Given the description of an element on the screen output the (x, y) to click on. 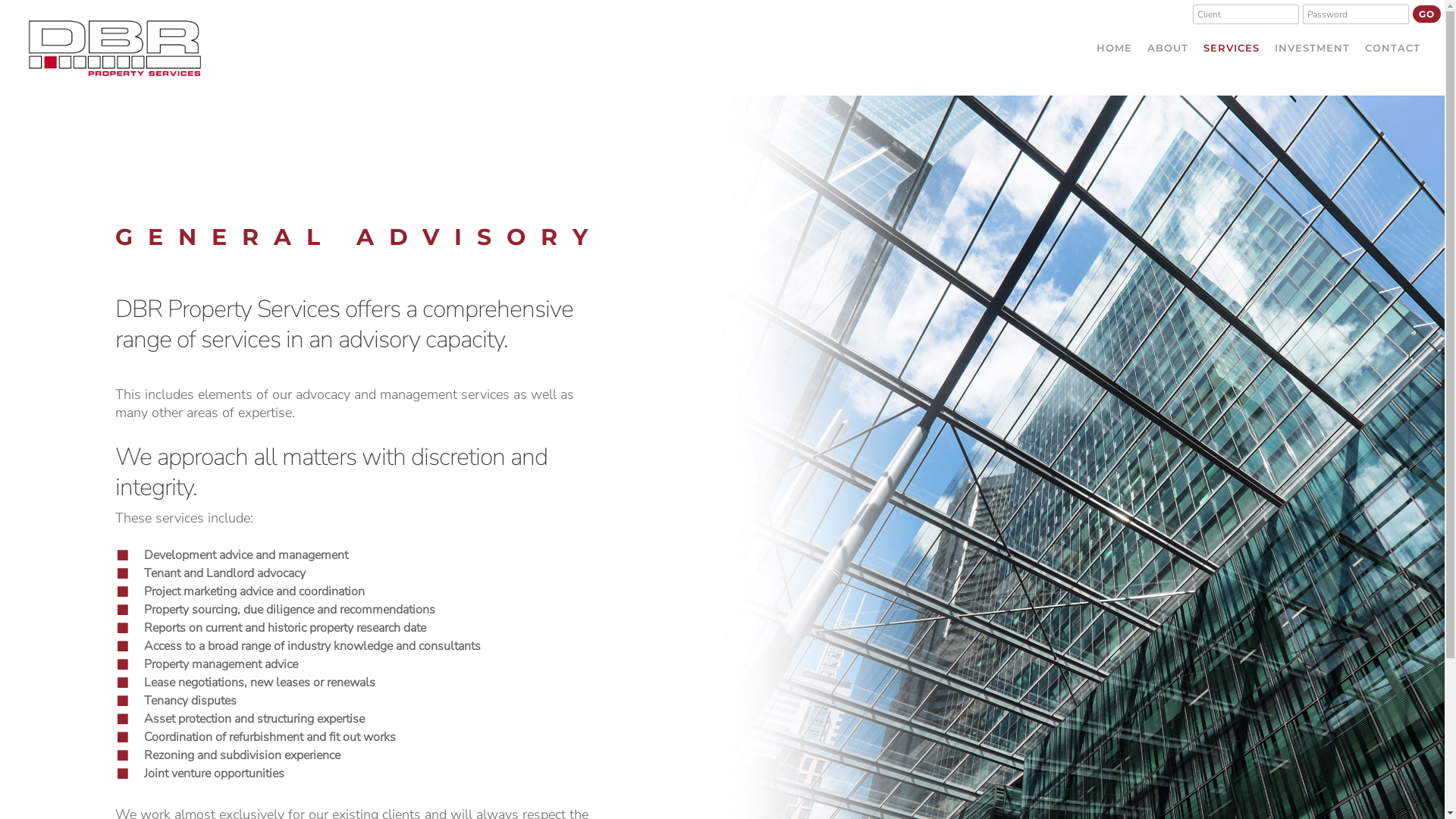
GO Element type: text (1426, 13)
HOME Element type: text (1113, 47)
ABOUT Element type: text (1167, 47)
INVESTMENT Element type: text (1312, 47)
SERVICES Element type: text (1231, 47)
CONTACT Element type: text (1392, 47)
